Given the description of an element on the screen output the (x, y) to click on. 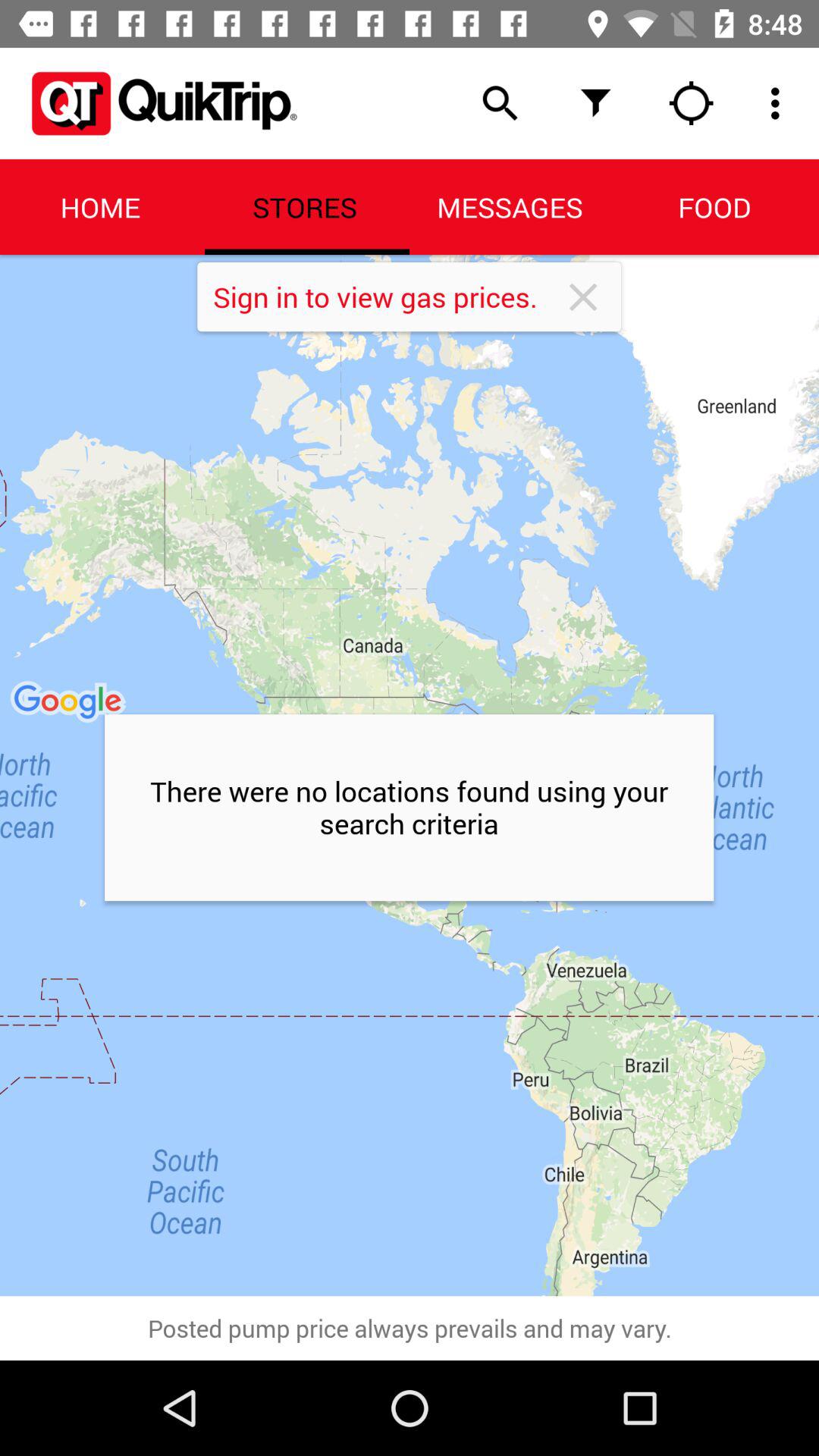
choose the icon above the messages icon (595, 103)
